Given the description of an element on the screen output the (x, y) to click on. 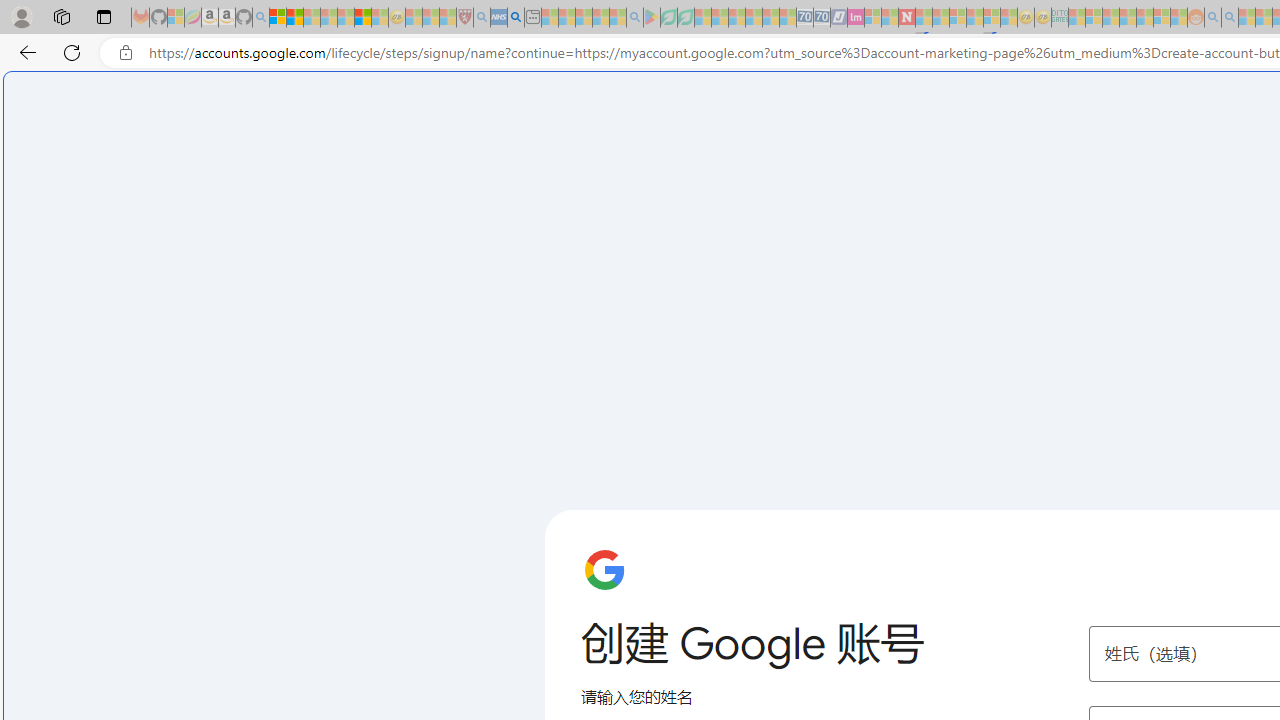
Bluey: Let's Play! - Apps on Google Play - Sleeping (651, 17)
